Given the description of an element on the screen output the (x, y) to click on. 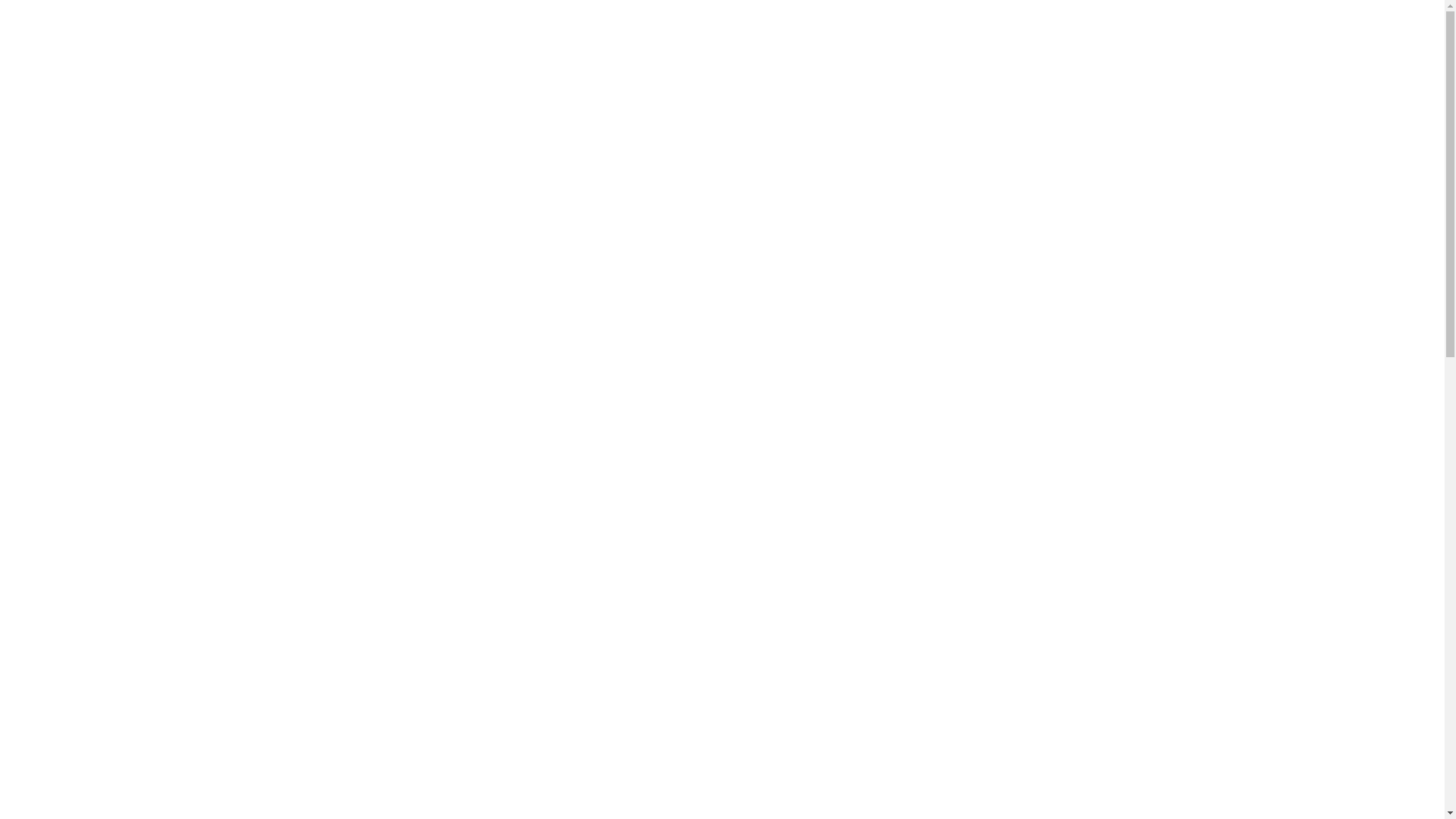
PERSBERICHTEN Element type: text (854, 83)
WEDSTRIJD Element type: text (758, 83)
FR Element type: text (286, 18)
PARTNERS Element type: text (1004, 83)
MEDIA Element type: text (937, 83)
CONTACT Element type: text (1079, 83)
NL Element type: text (310, 18)
DE CLUB Element type: text (681, 83)
